Given the description of an element on the screen output the (x, y) to click on. 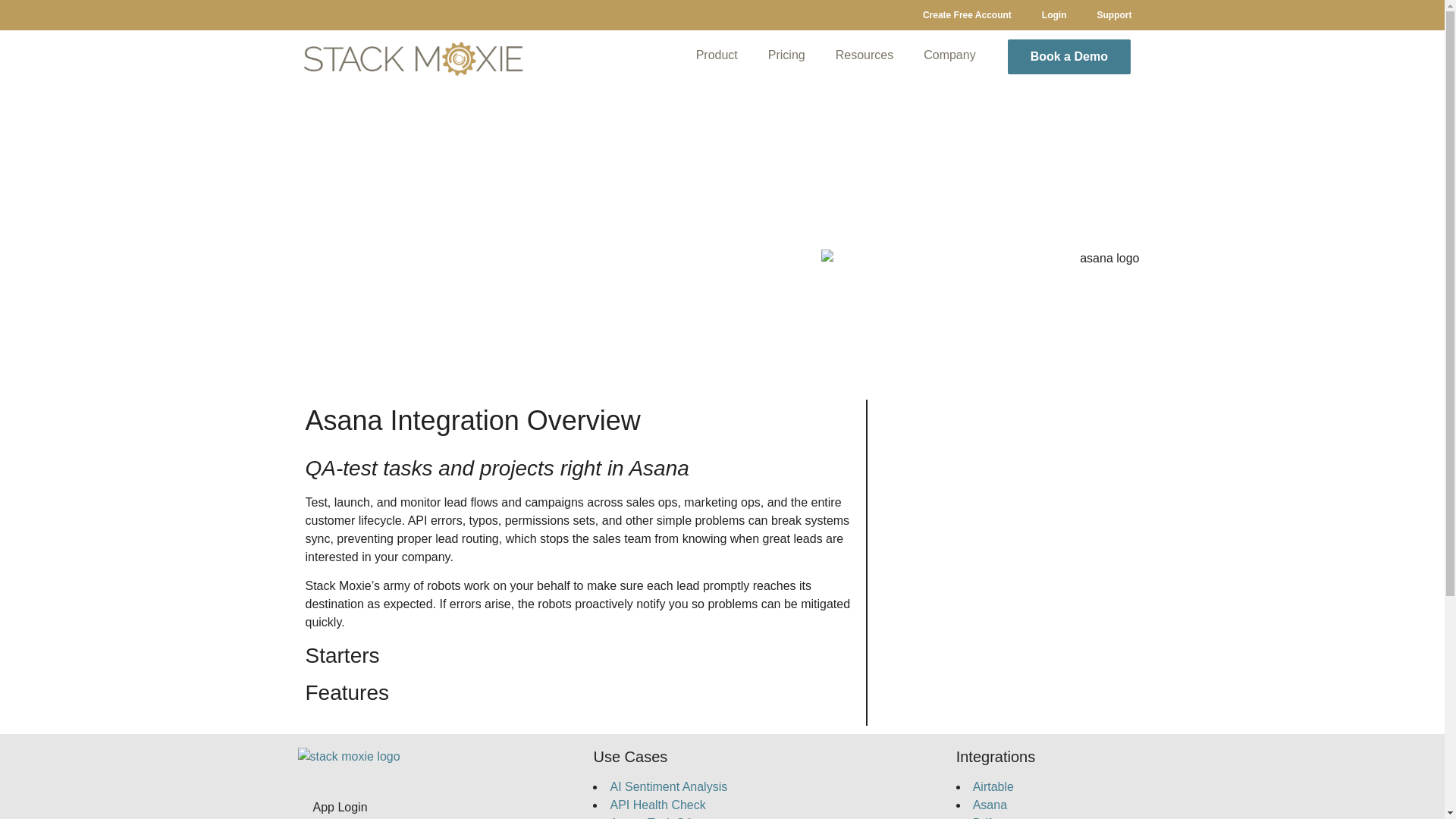
Create Free Account (966, 14)
Login (1053, 14)
Support (1114, 14)
Product (716, 54)
Book a Demo (1069, 56)
Company (949, 54)
Resources (864, 54)
App Login (377, 804)
Pricing (786, 54)
